Given the description of an element on the screen output the (x, y) to click on. 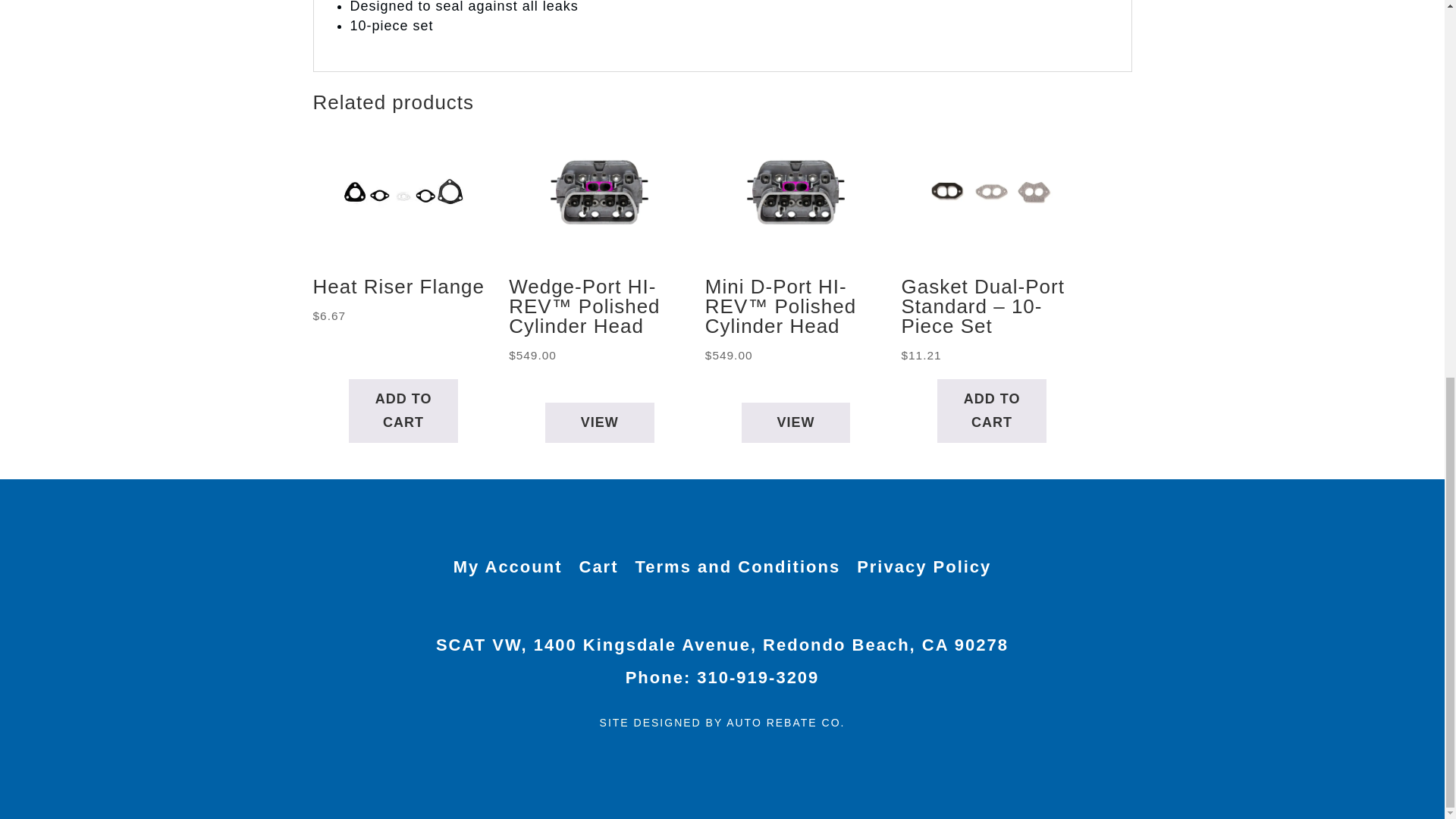
VIEW (795, 422)
ADD TO CART (403, 410)
VIEW (598, 422)
